Given the description of an element on the screen output the (x, y) to click on. 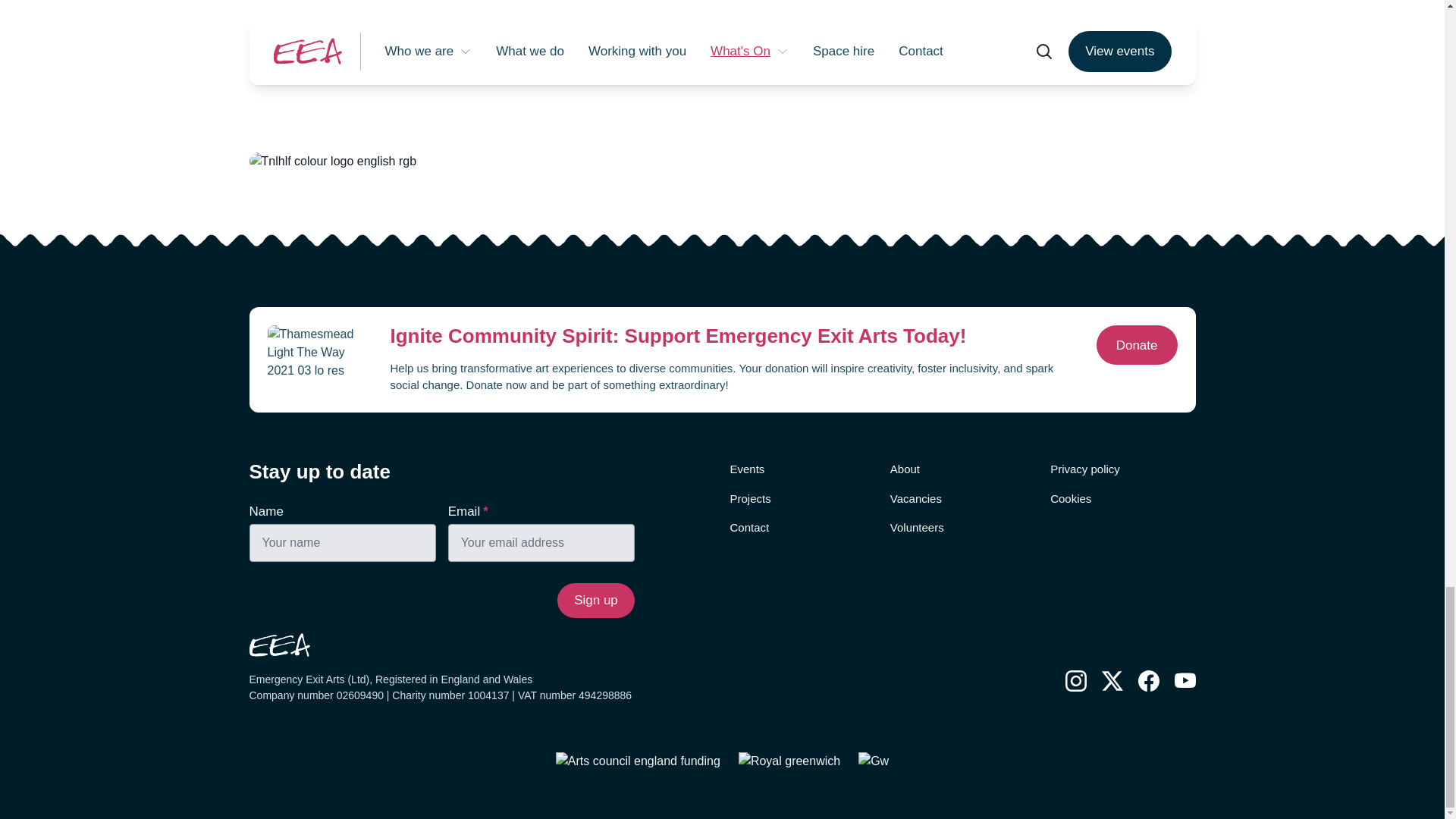
Follow us on YouTube (1184, 680)
Follow us on X (1111, 680)
Events (746, 469)
Contact (748, 528)
YouTube video player (721, 36)
Follow us on Instagram (1075, 680)
Donate (1136, 344)
Vacancies (915, 498)
Follow us on Facebook (1147, 680)
Projects (749, 498)
